Given the description of an element on the screen output the (x, y) to click on. 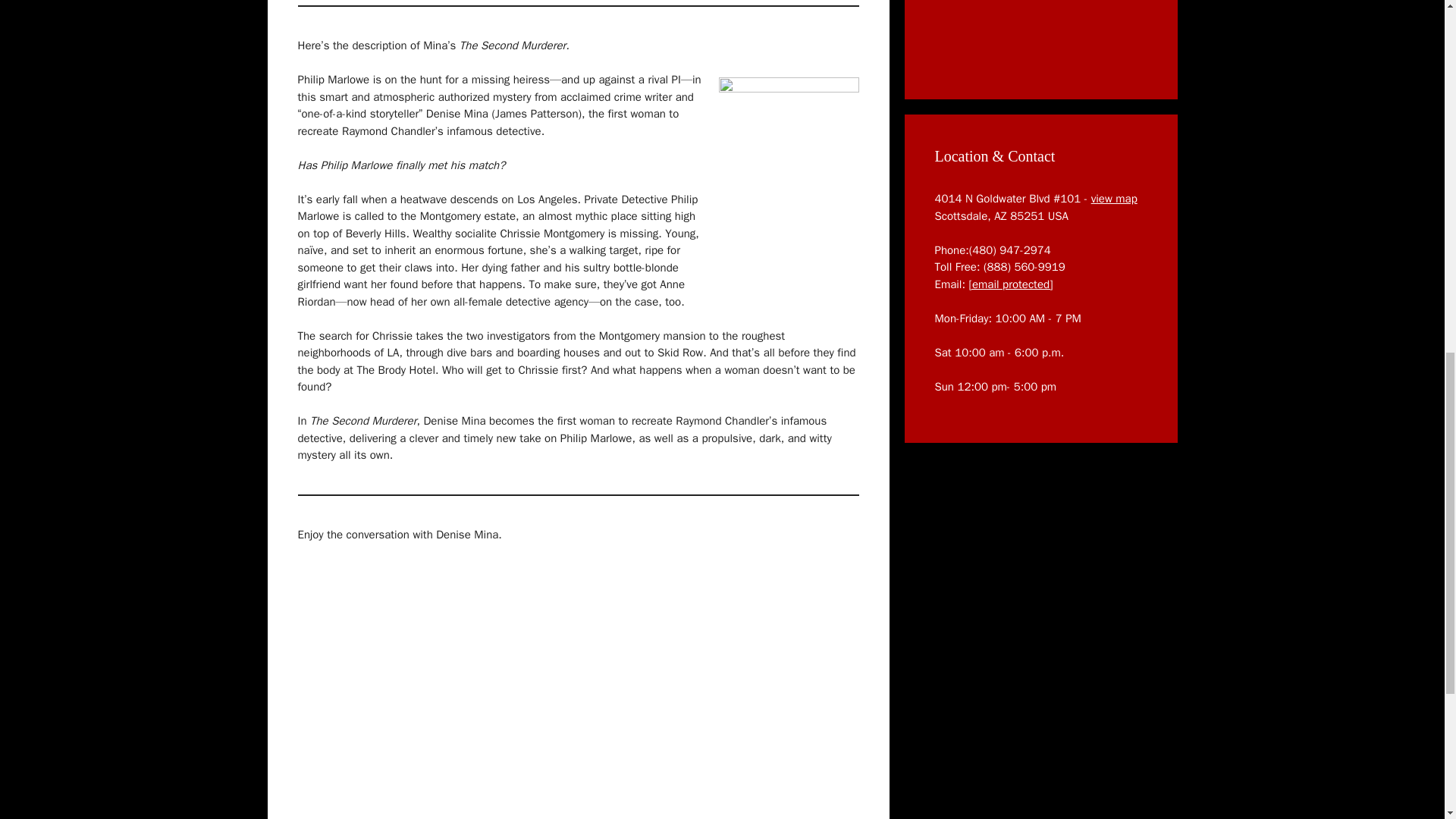
Scroll back to top (1406, 720)
